Given the description of an element on the screen output the (x, y) to click on. 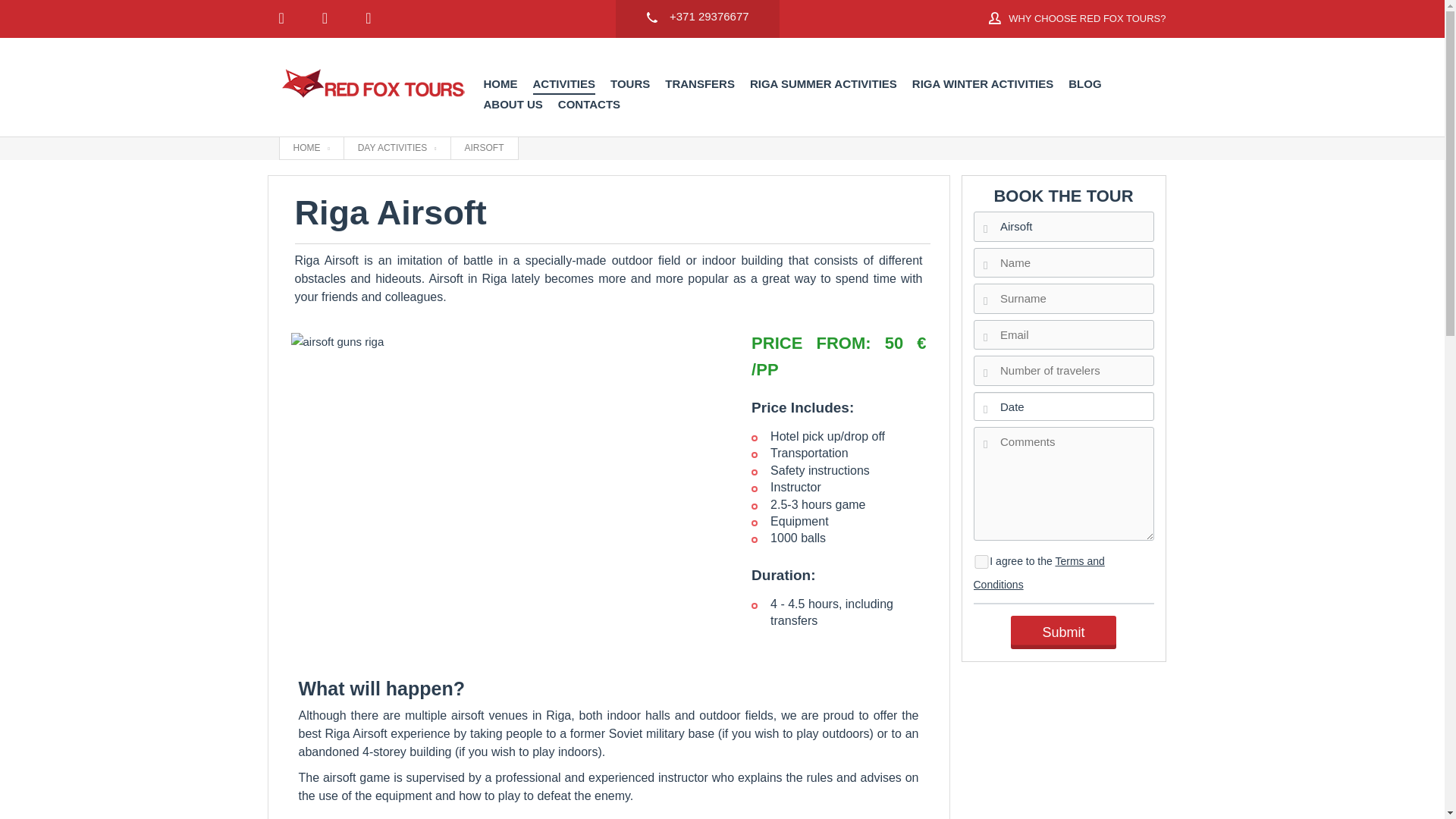
AIRSOFT (483, 147)
WHY CHOOSE RED FOX TOURS? (1077, 19)
TRANSFERS (700, 84)
BLOG (1084, 84)
Terms and Conditions (1039, 572)
Airsoft (1064, 225)
RIGA SUMMER ACTIVITIES (822, 84)
RIGA WINTER ACTIVITIES (982, 84)
DAY ACTIVITIES (397, 147)
WHY CHOOSE RED FOX TOURS? (1077, 18)
